Given the description of an element on the screen output the (x, y) to click on. 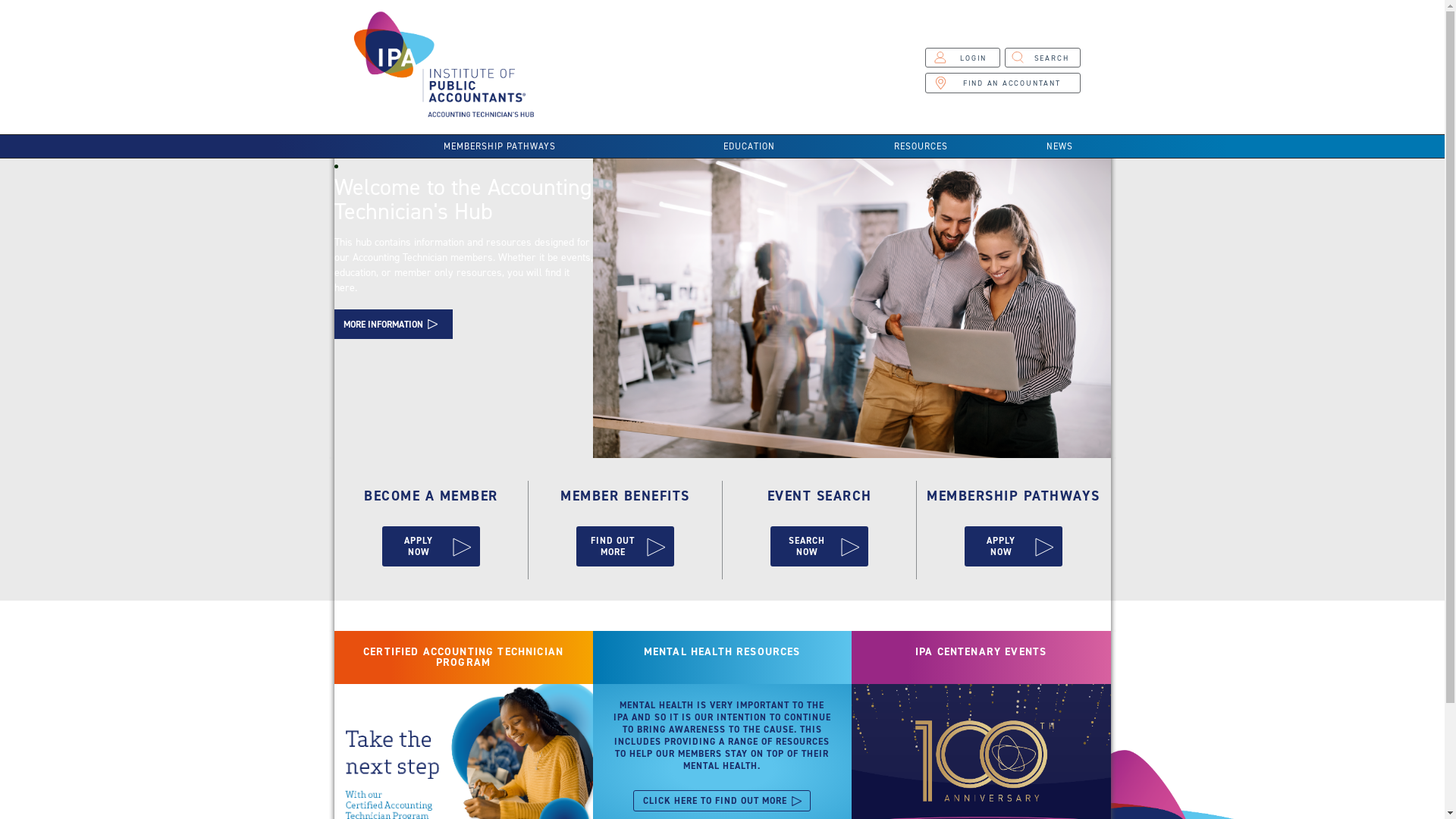
NEWS Element type: text (1059, 145)
EDUCATION Element type: text (749, 145)
APPLY
NOW Element type: text (1013, 546)
MORE INFORMATION Element type: text (392, 323)
RESOURCES Element type: text (920, 145)
SEARCH
NOW Element type: text (819, 546)
ICON : SEARCH CREATED WITH SKETCH.
SEARCH Element type: text (1042, 57)
ICON : USER COPYCREATED WITH SKETCH.
LOGIN Element type: text (962, 57)
FIND OUT
MORE Element type: text (625, 546)
CLICK HERE TO FIND OUT MORE Element type: text (721, 800)
MEMBERSHIP PATHWAYS Element type: text (498, 145)
APPLY NOW Element type: text (431, 546)
